Given the description of an element on the screen output the (x, y) to click on. 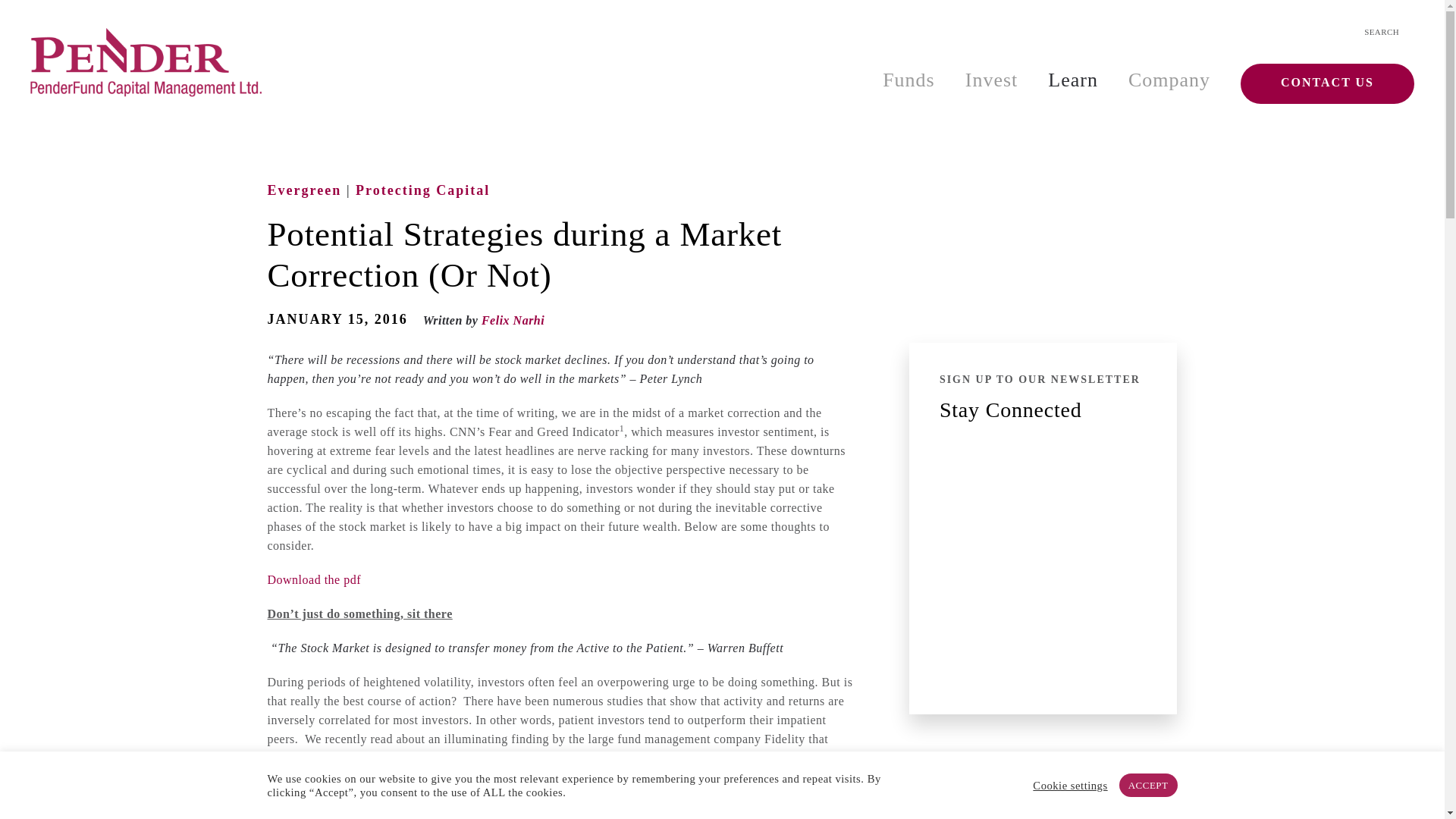
Learn (1072, 79)
Invest (991, 79)
Funds (908, 79)
SEARCH (1381, 31)
